Given the description of an element on the screen output the (x, y) to click on. 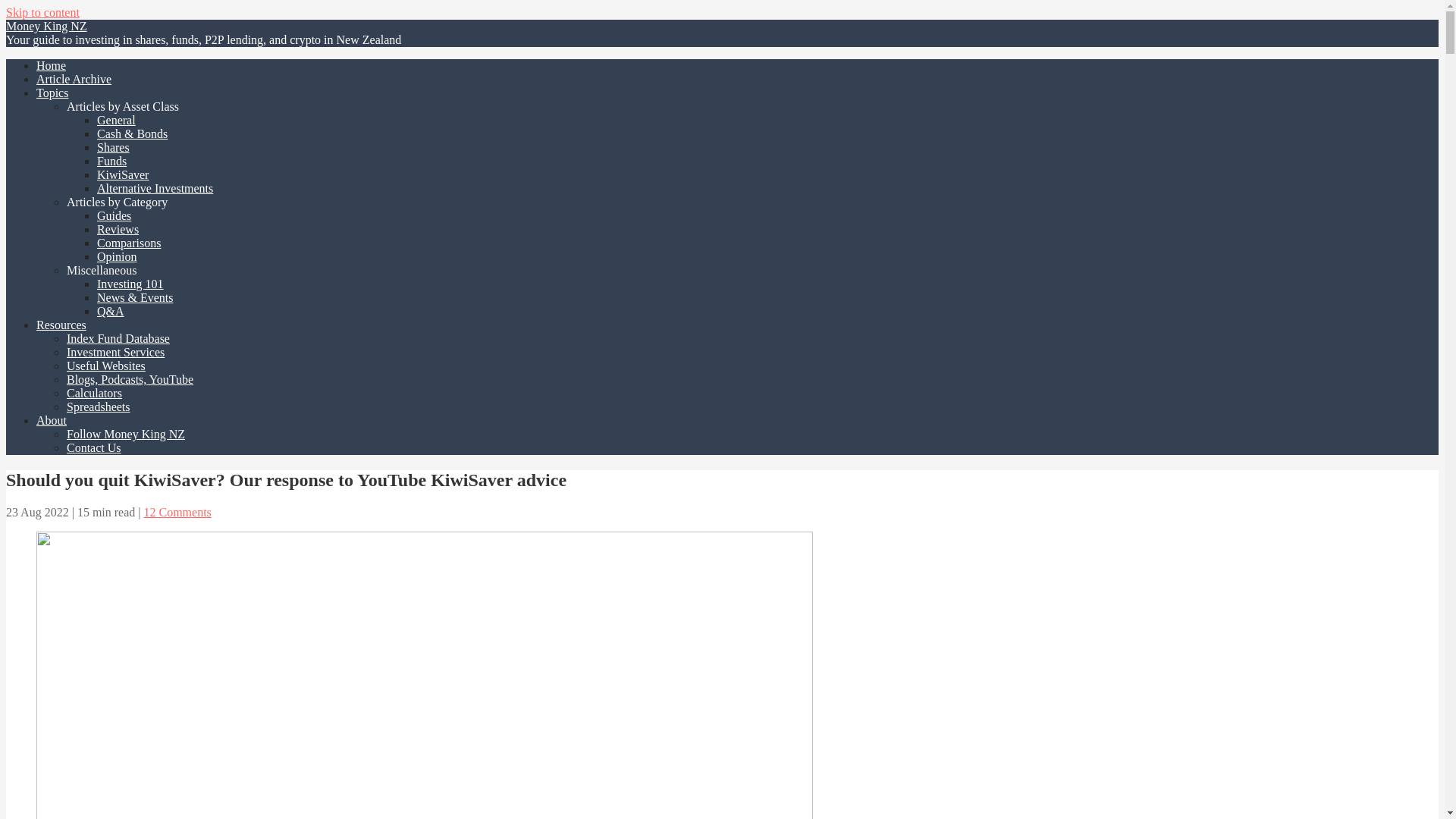
Alternative Investments (154, 187)
About (51, 420)
12 Comments (177, 512)
Skip to content (42, 11)
Shares (113, 146)
Investing 101 (130, 283)
Topics (52, 92)
Useful Websites (105, 365)
Spreadsheets (98, 406)
Calculators (94, 392)
